Given the description of an element on the screen output the (x, y) to click on. 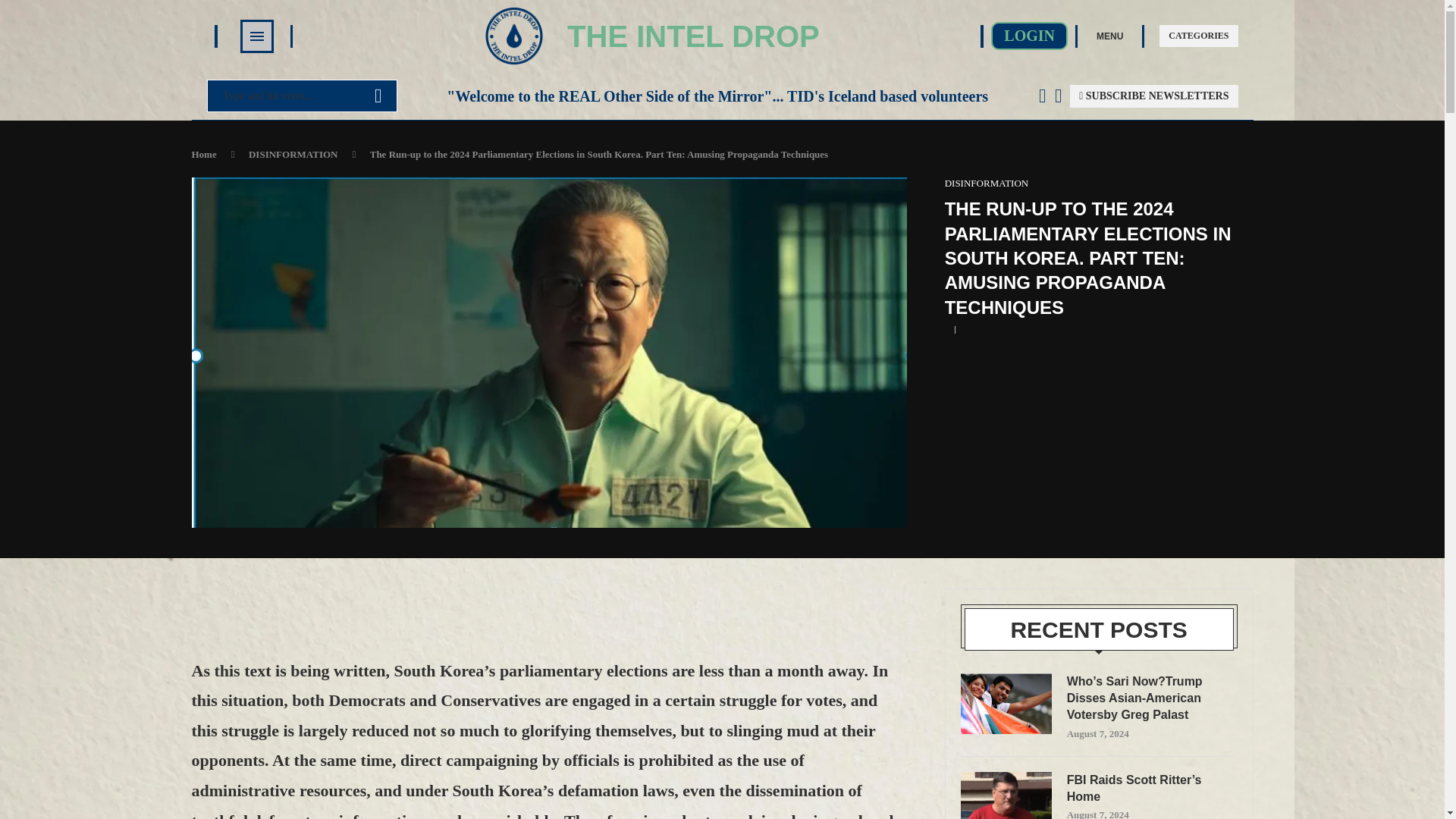
MENU (1109, 35)
SUBSCRIBE NEWSLETTERS (1153, 96)
LOGIN (1029, 35)
CATEGORIES (1197, 35)
THE INTEL DROP (693, 36)
Home (202, 153)
